Given the description of an element on the screen output the (x, y) to click on. 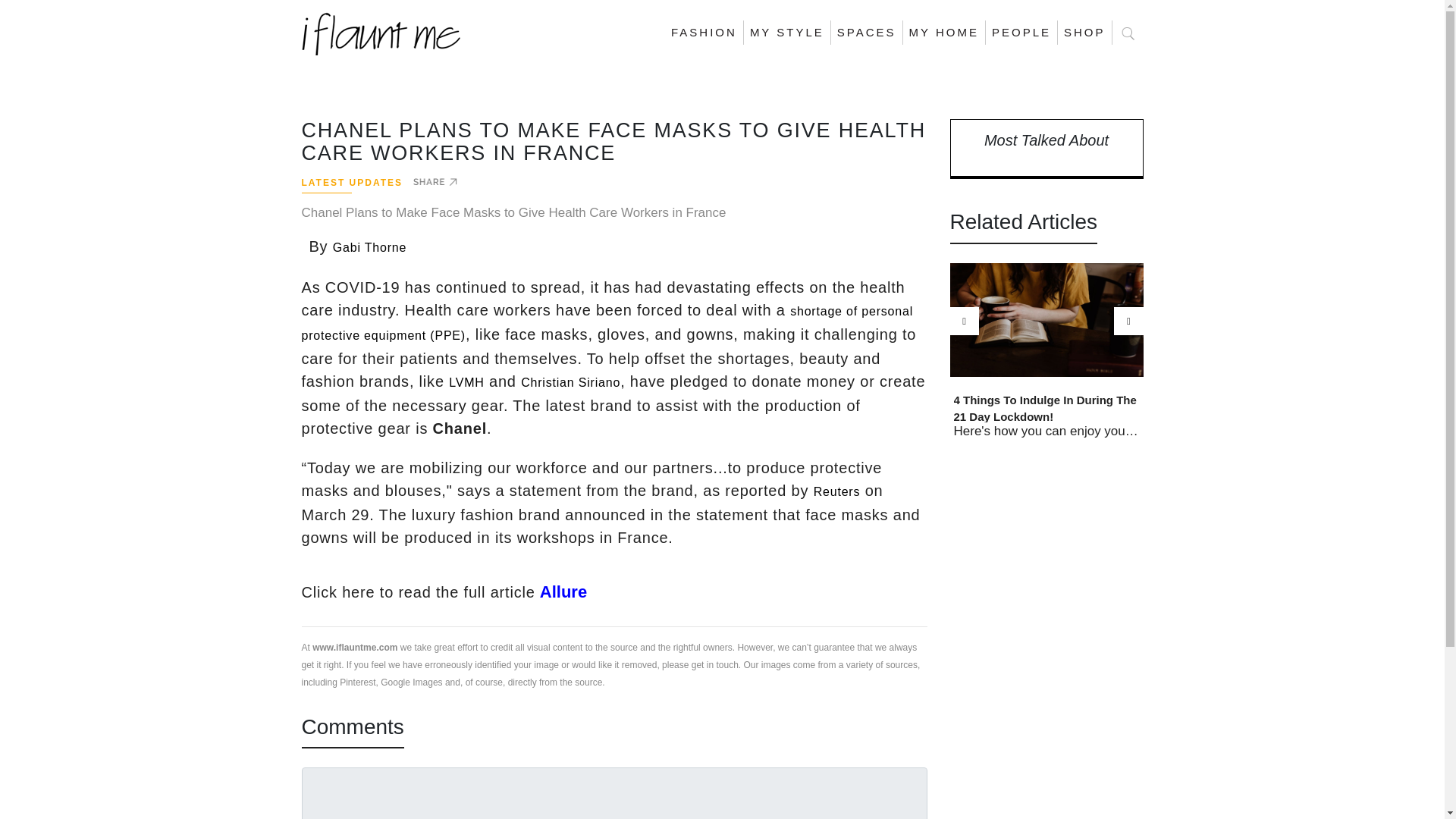
MY STYLE (786, 32)
www.iflauntme.com (355, 646)
Allure (560, 591)
Reuters (836, 491)
LVMH (465, 382)
FASHION (703, 32)
SPACES (866, 32)
MY HOME (943, 32)
PEOPLE (1021, 32)
Christian Siriano (570, 382)
